Given the description of an element on the screen output the (x, y) to click on. 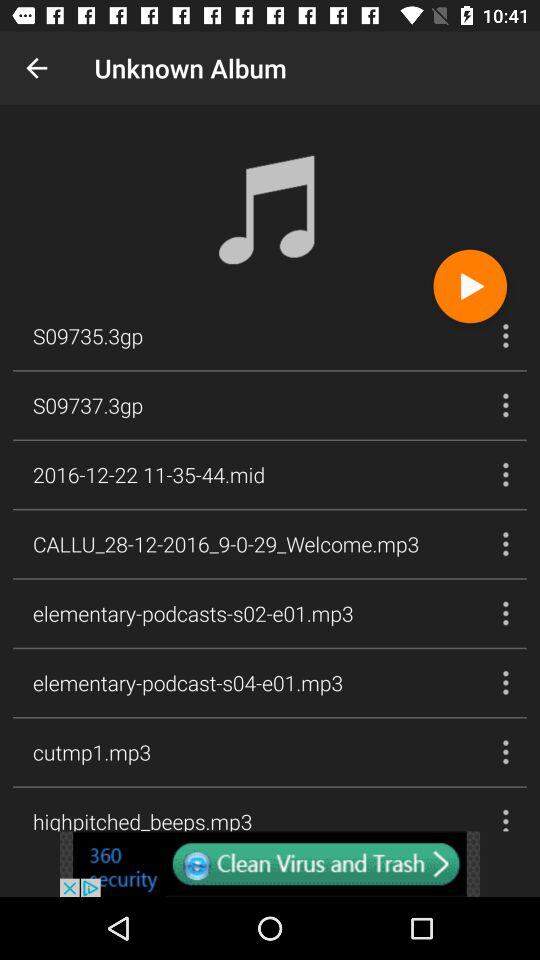
open advertisement (270, 864)
